Given the description of an element on the screen output the (x, y) to click on. 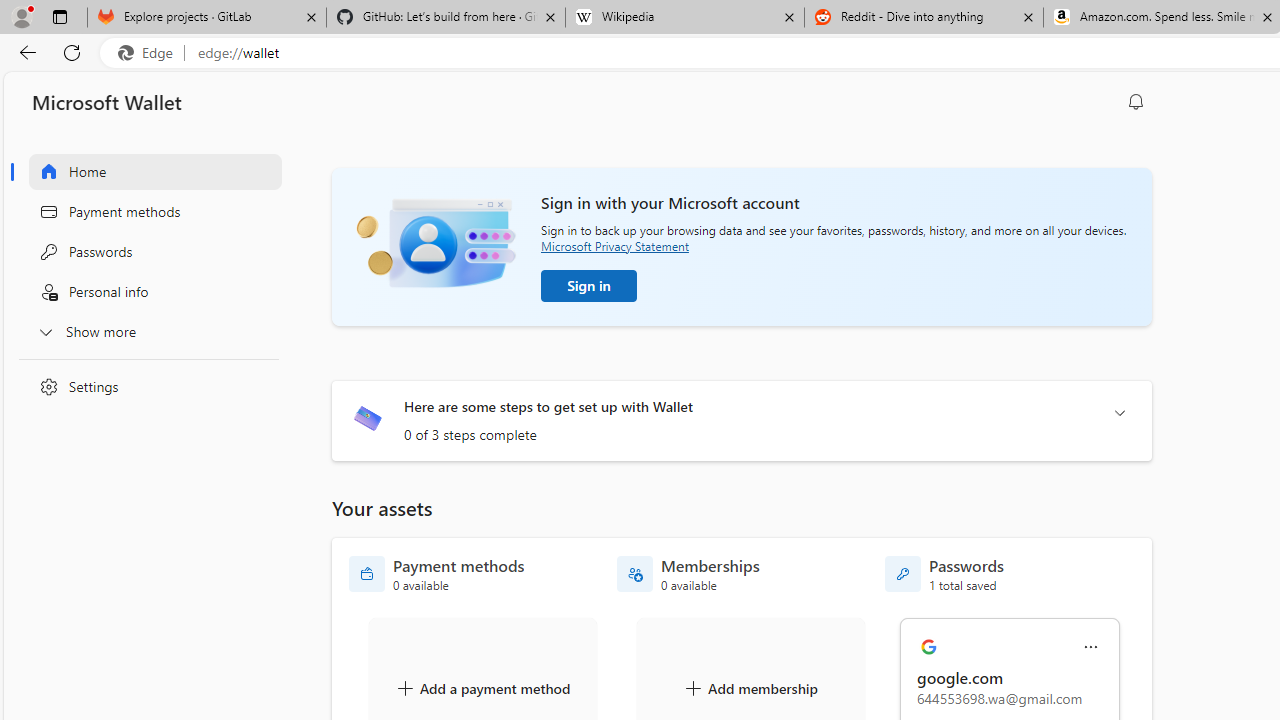
Microsoft Privacy Statement (614, 246)
Show more (143, 331)
Edge (150, 53)
Wikipedia (684, 17)
Payment methods - 0 available (437, 573)
Reddit - Dive into anything (924, 17)
More actions (1091, 647)
